Given the description of an element on the screen output the (x, y) to click on. 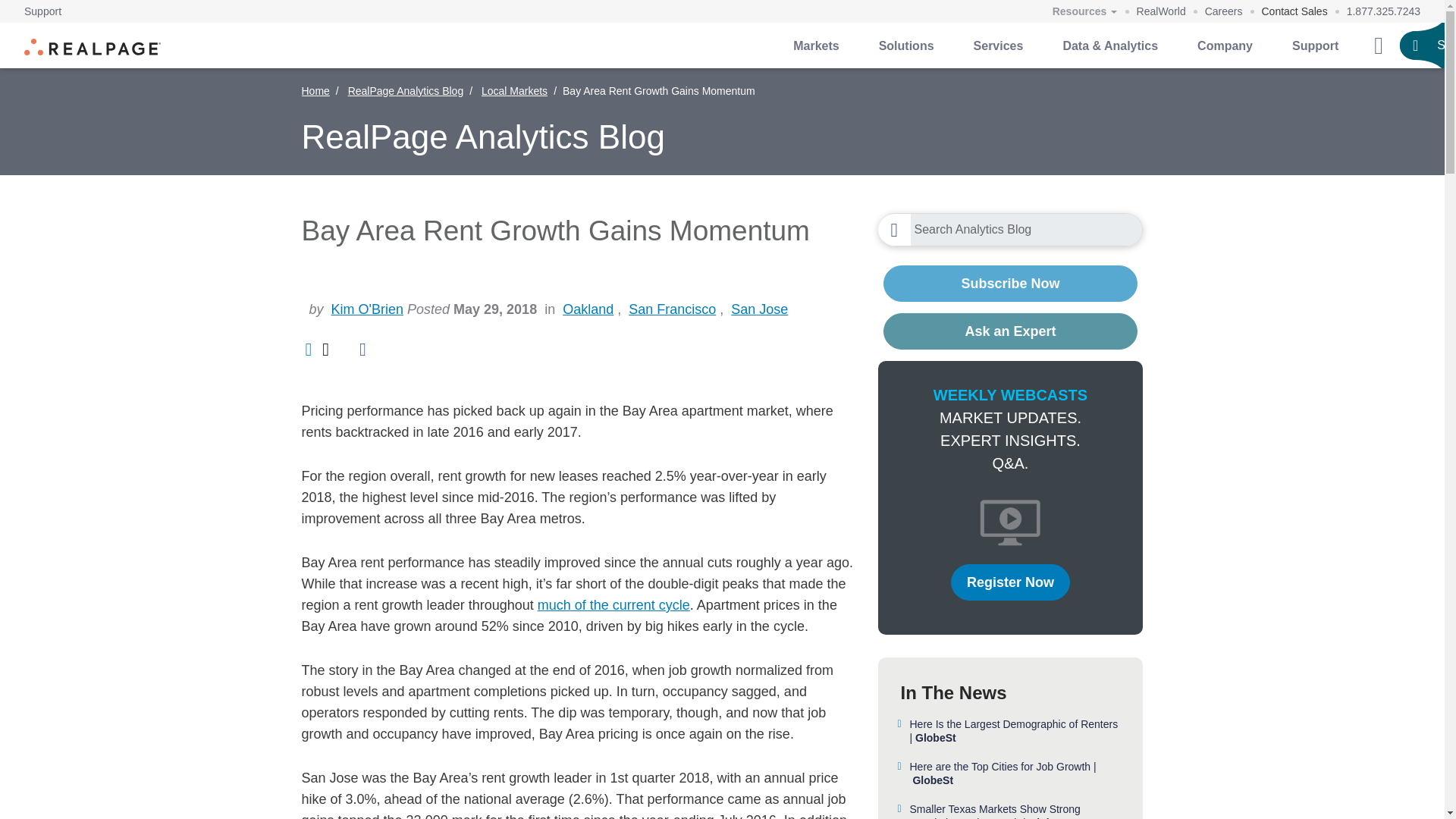
RealWorld (1161, 11)
RealWorld (1161, 11)
Solutions (906, 44)
1.877.325.7243 (1383, 11)
Markets (816, 44)
Resources (1084, 11)
Support (42, 11)
Contact Sales (1294, 11)
Careers (1224, 11)
